Given the description of an element on the screen output the (x, y) to click on. 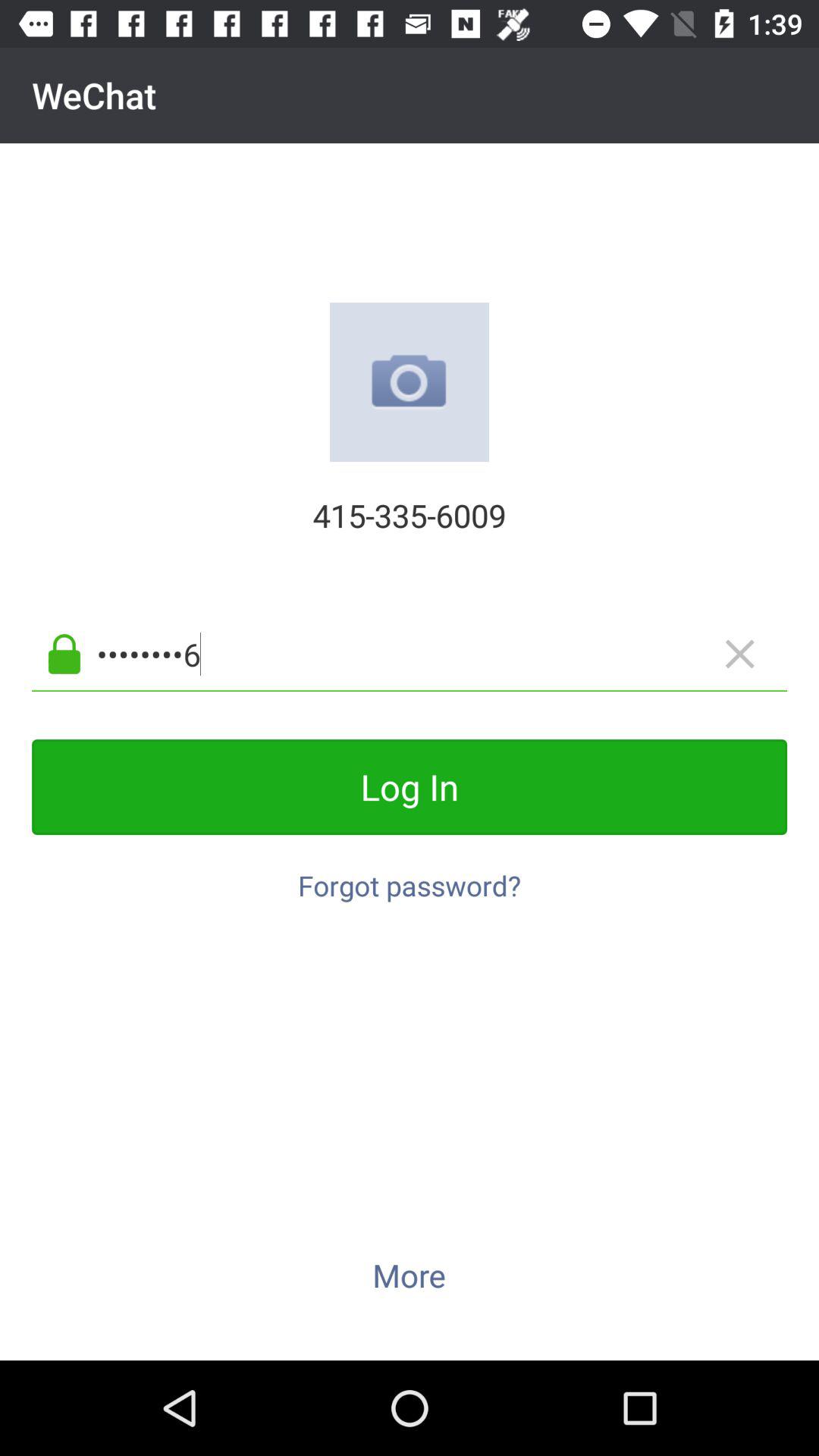
launch forgot password? (409, 877)
